Given the description of an element on the screen output the (x, y) to click on. 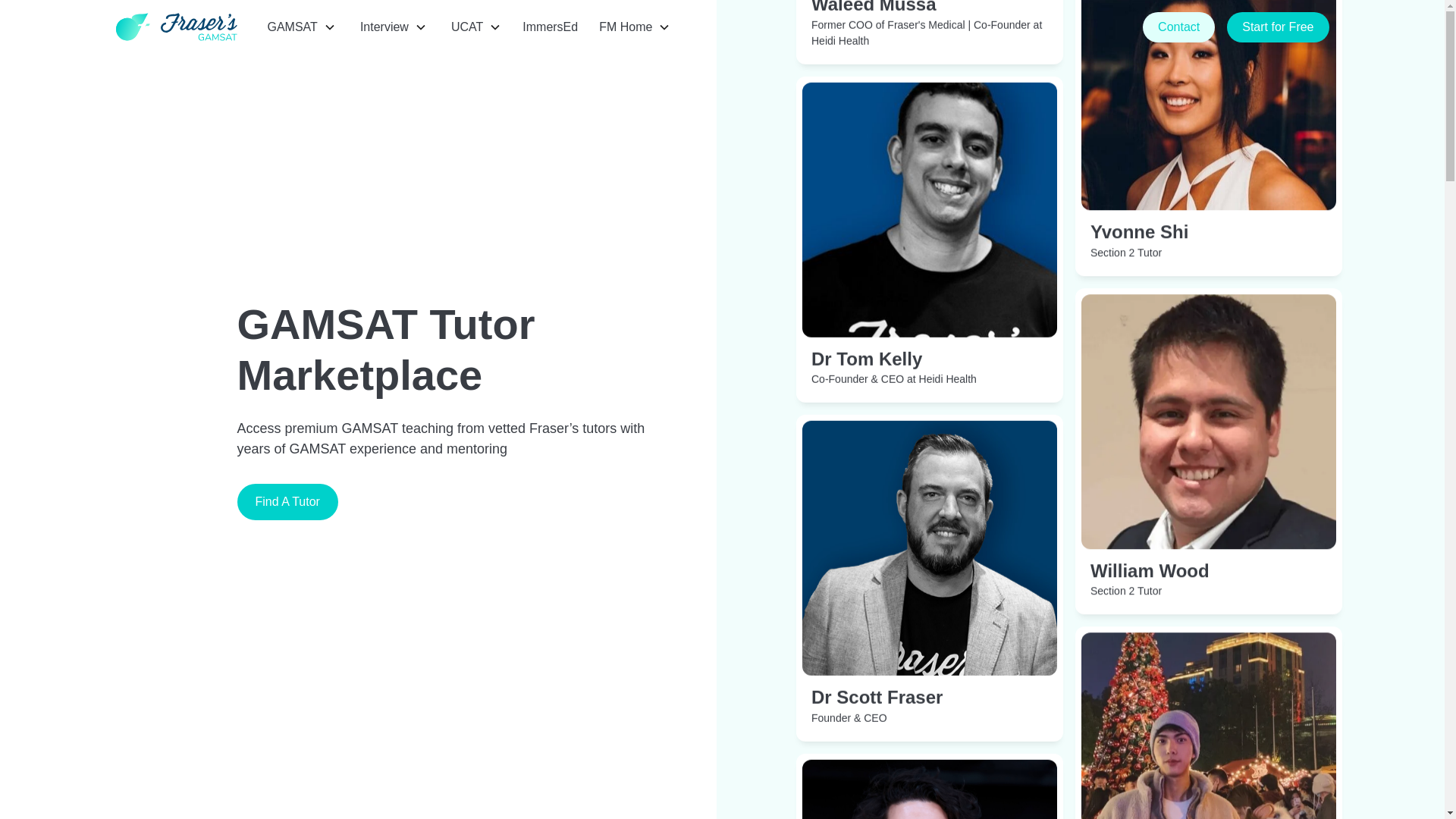
Interview (384, 27)
GAMSAT (291, 27)
